Given the description of an element on the screen output the (x, y) to click on. 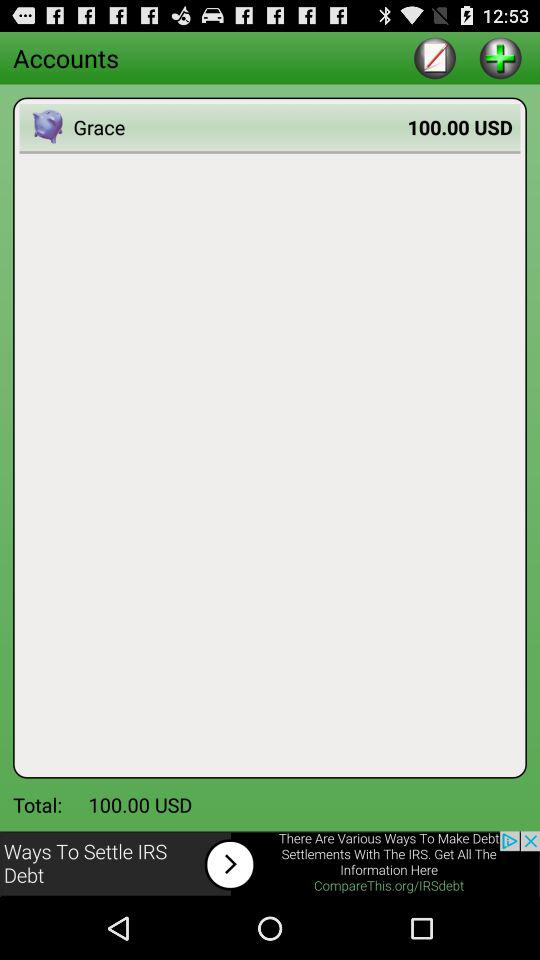
advertisement (270, 864)
